Given the description of an element on the screen output the (x, y) to click on. 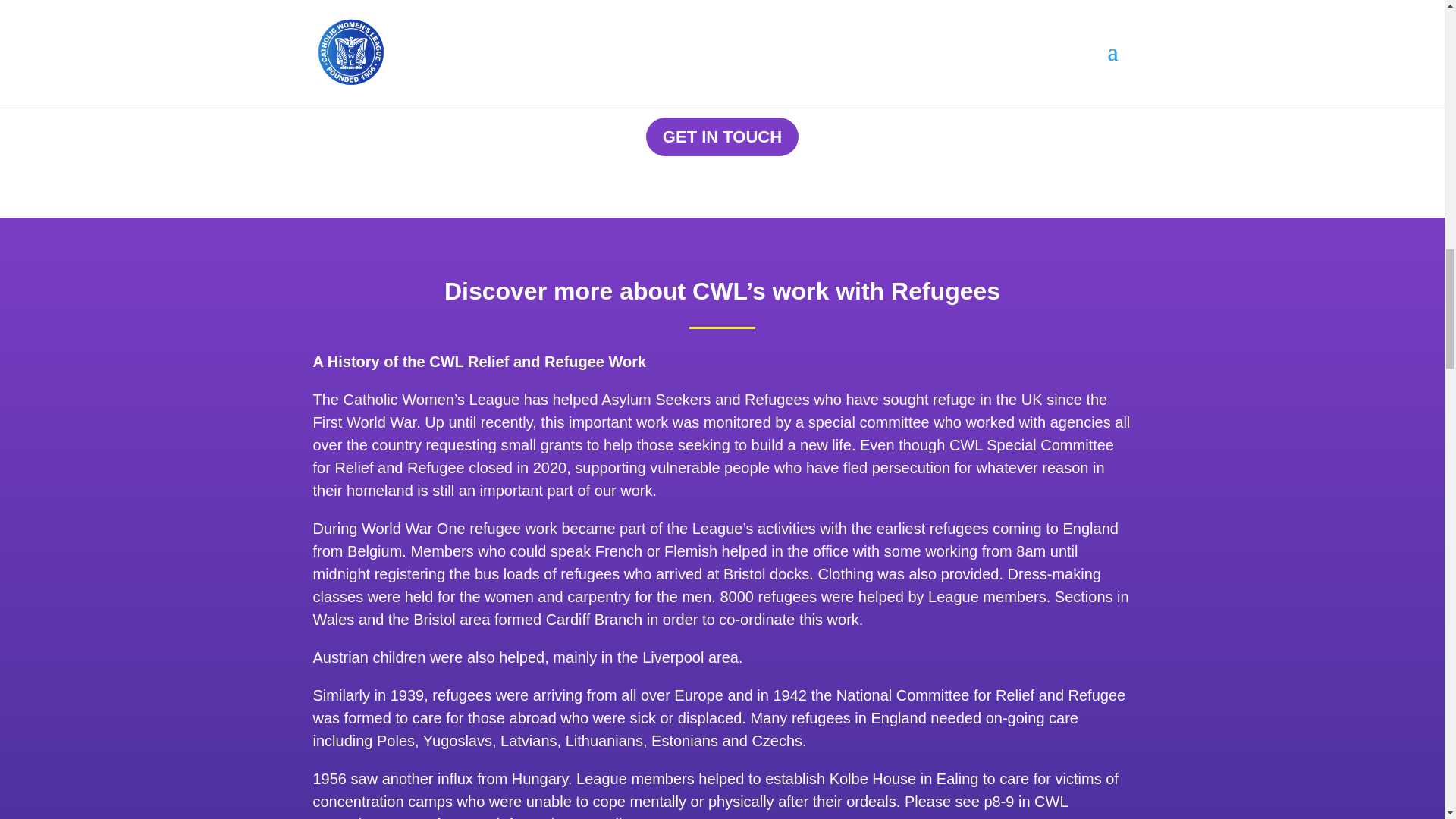
Margret-2 (1009, 38)
GET IN TOUCH (721, 136)
Margret-1 (433, 38)
